Given the description of an element on the screen output the (x, y) to click on. 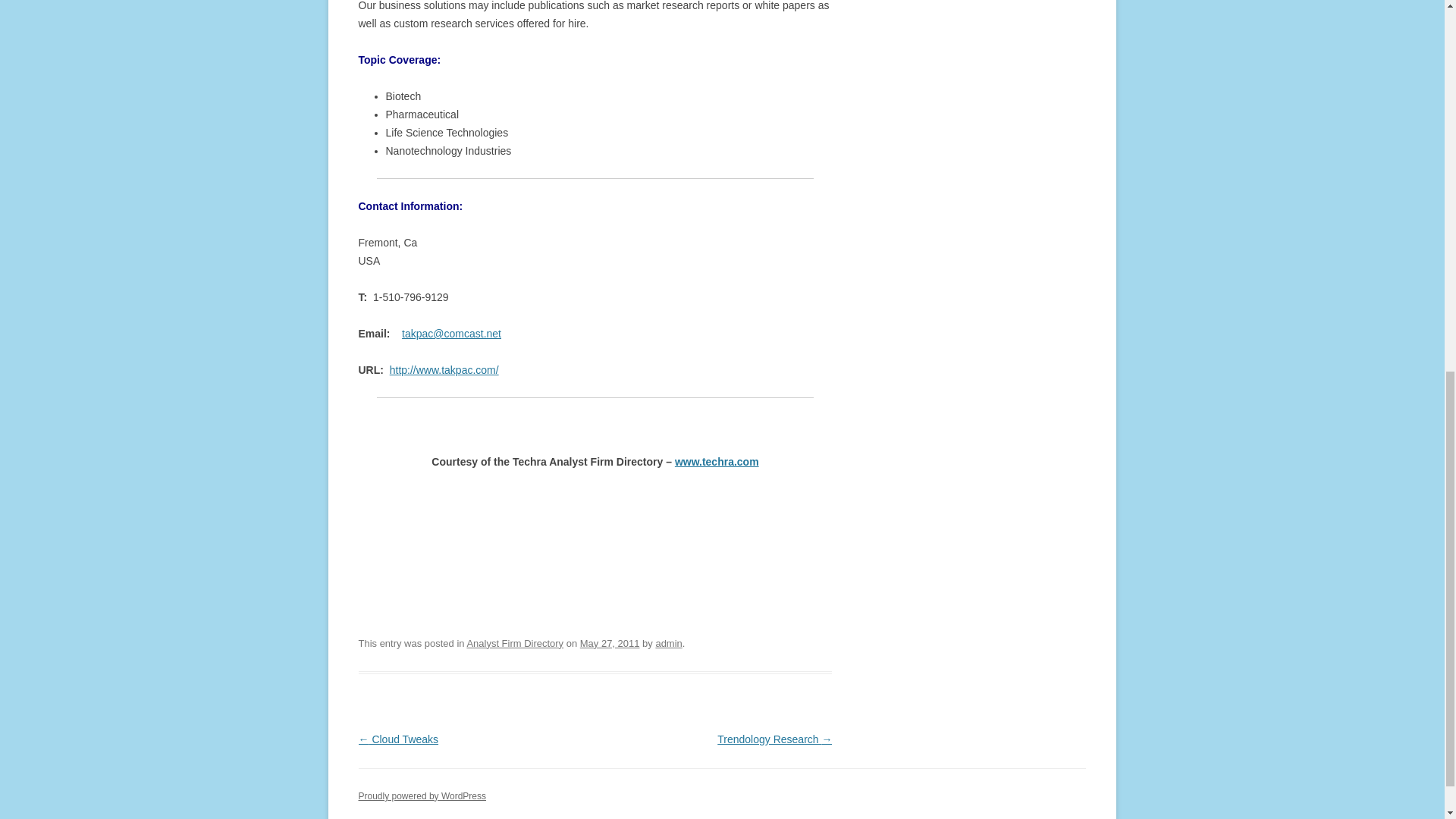
Analyst Firm Directory (514, 643)
May 27, 2011 (609, 643)
Semantic Personal Publishing Platform (422, 796)
www.techra.com (716, 461)
Proudly powered by WordPress (422, 796)
TAKEDA PACIFIC Home Page (444, 369)
View all posts by admin (668, 643)
Techra Home Page (716, 461)
12:07 am (609, 643)
admin (668, 643)
